Given the description of an element on the screen output the (x, y) to click on. 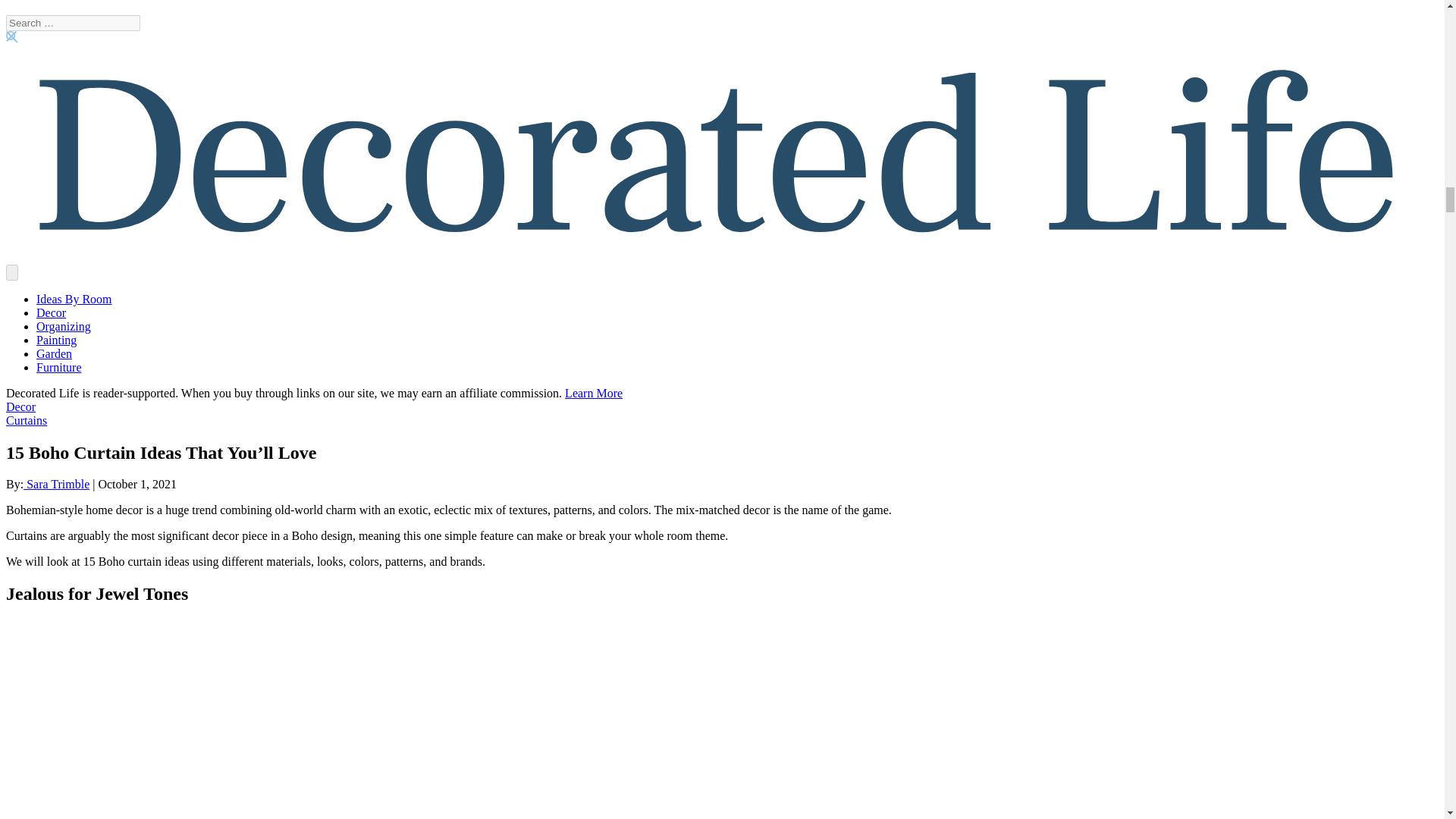
Learn More (593, 392)
Furniture (58, 367)
Organizing (63, 326)
Painting (56, 339)
Ideas By Room (74, 298)
Garden (53, 353)
Decor (50, 312)
Curtains (25, 420)
Decor (19, 406)
Sara Trimble (55, 483)
